Given the description of an element on the screen output the (x, y) to click on. 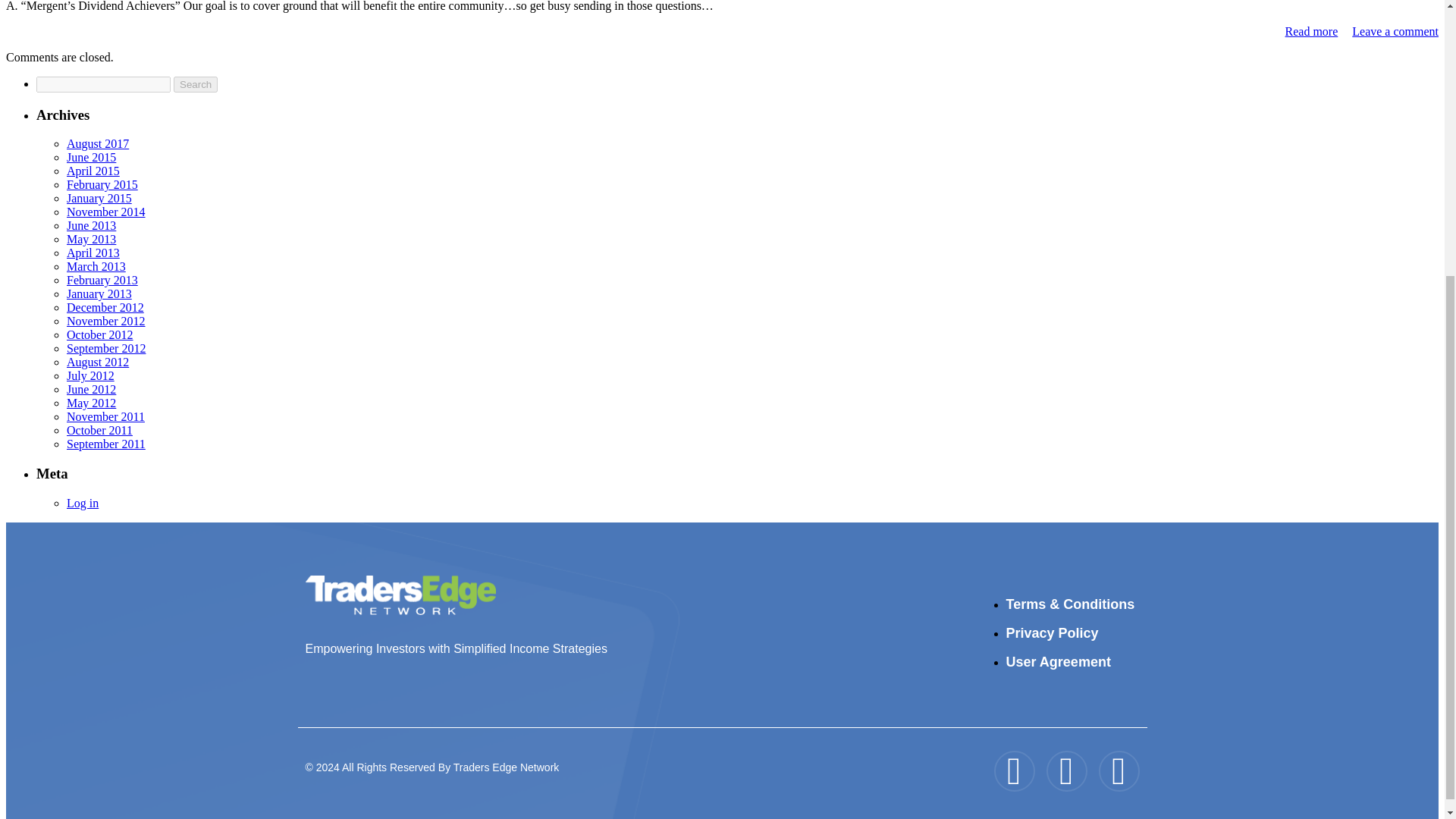
May 2013 (91, 238)
September 2012 (105, 348)
Read more (1311, 31)
August 2012 (97, 361)
June 2015 (91, 156)
Search (194, 84)
November 2014 (105, 211)
October 2011 (99, 430)
September 2011 (105, 443)
December 2012 (105, 307)
June 2013 (91, 225)
August 2017 (97, 143)
July 2012 (90, 375)
February 2015 (102, 184)
October 2012 (99, 334)
